Given the description of an element on the screen output the (x, y) to click on. 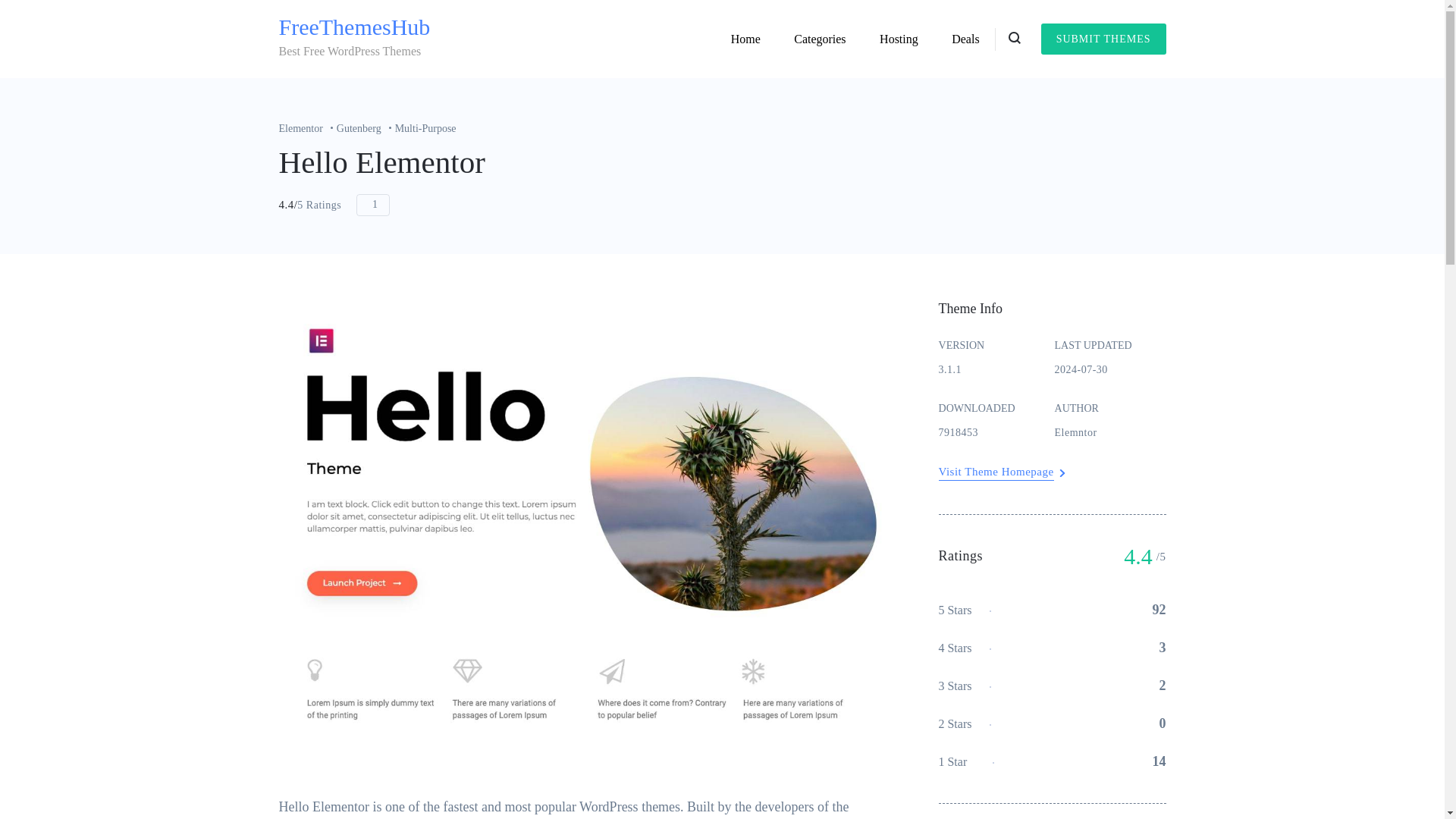
Hosting (898, 39)
SUBMIT THEMES (1103, 39)
Categories (819, 39)
1 (373, 205)
Gutenberg (365, 128)
Visit Theme Homepage (996, 472)
Home (746, 39)
Multi-Purpose (425, 128)
Elementor (307, 128)
FreeThemesHub (354, 26)
